Given the description of an element on the screen output the (x, y) to click on. 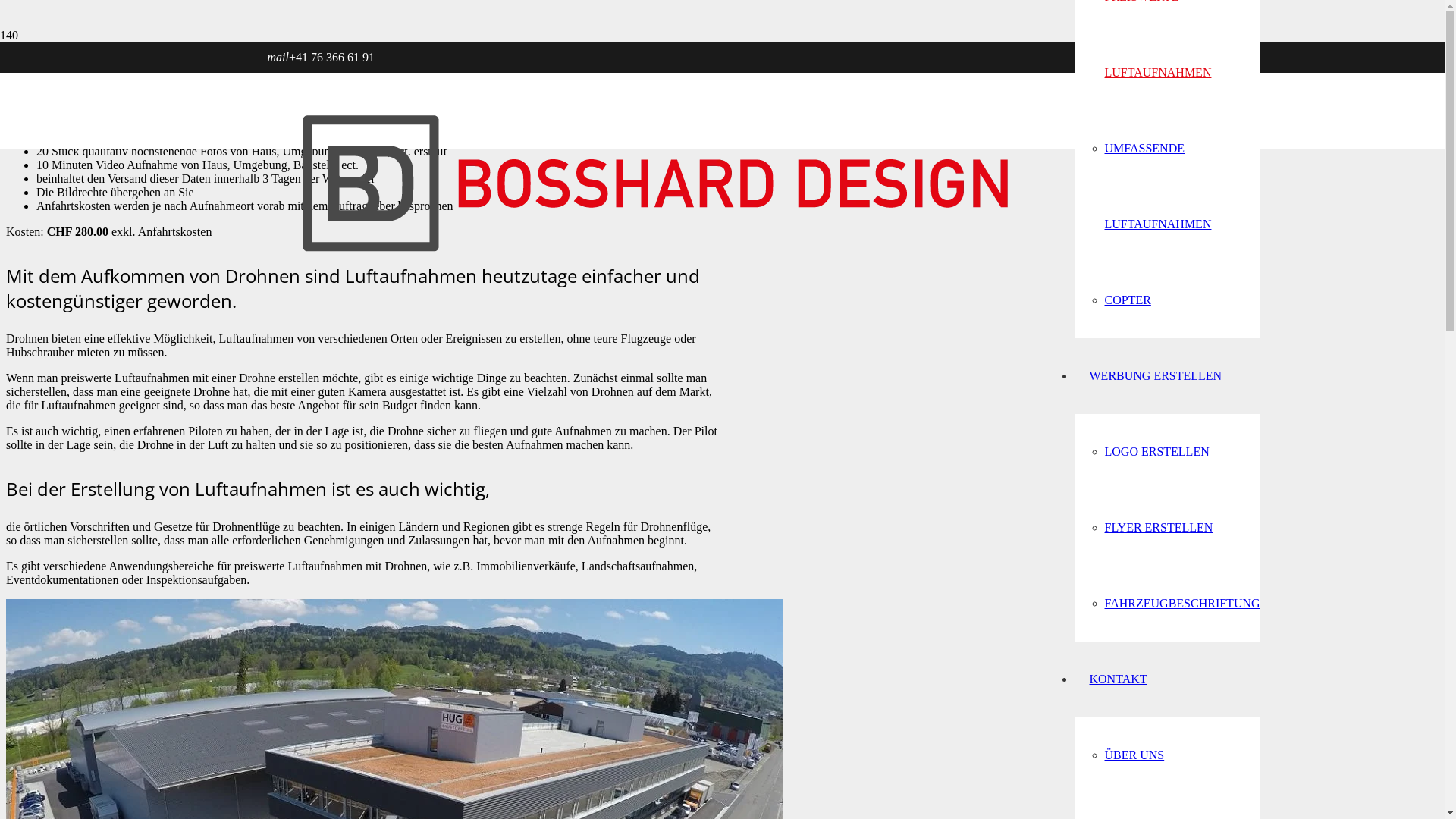
FAHRZEUGBESCHRIFTUNG Element type: text (1181, 602)
UMFASSENDE LUFTAUFNAHMEN Element type: text (1157, 185)
KONTAKT Element type: text (1117, 678)
COPTER Element type: text (1127, 299)
WERBUNG ERSTELLEN Element type: text (1154, 375)
FLYER ERSTELLEN Element type: text (1158, 526)
LOGO ERSTELLEN Element type: text (1156, 451)
